Given the description of an element on the screen output the (x, y) to click on. 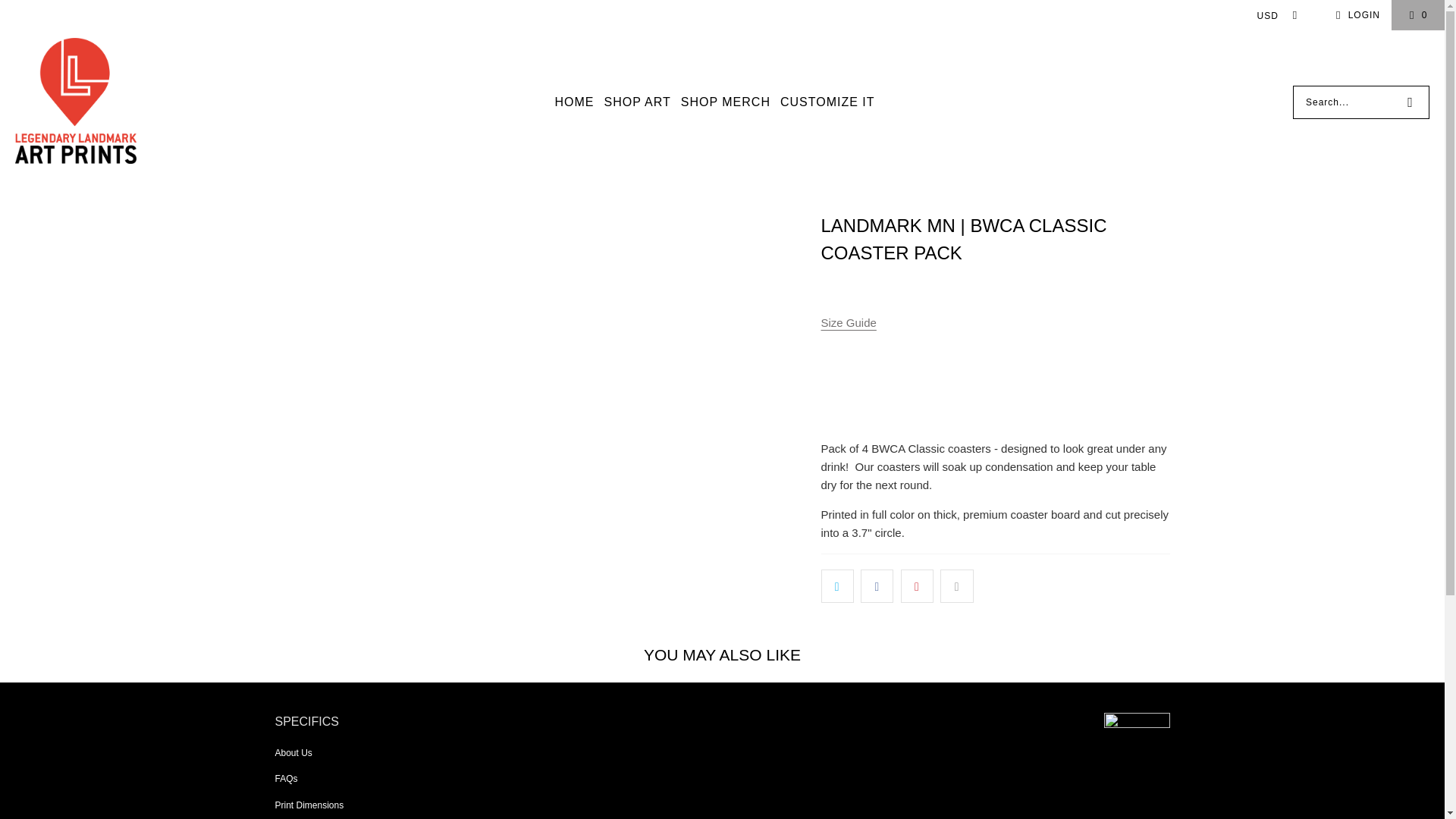
Share this on Facebook (876, 585)
HOME (574, 102)
SHOP MERCH (725, 102)
SHOP ART (636, 102)
My Account  (1355, 14)
USD (1272, 15)
Email this to a friend (956, 585)
Share this on Twitter (837, 585)
LOGIN (1355, 14)
CUSTOMIZE IT (827, 102)
